Given the description of an element on the screen output the (x, y) to click on. 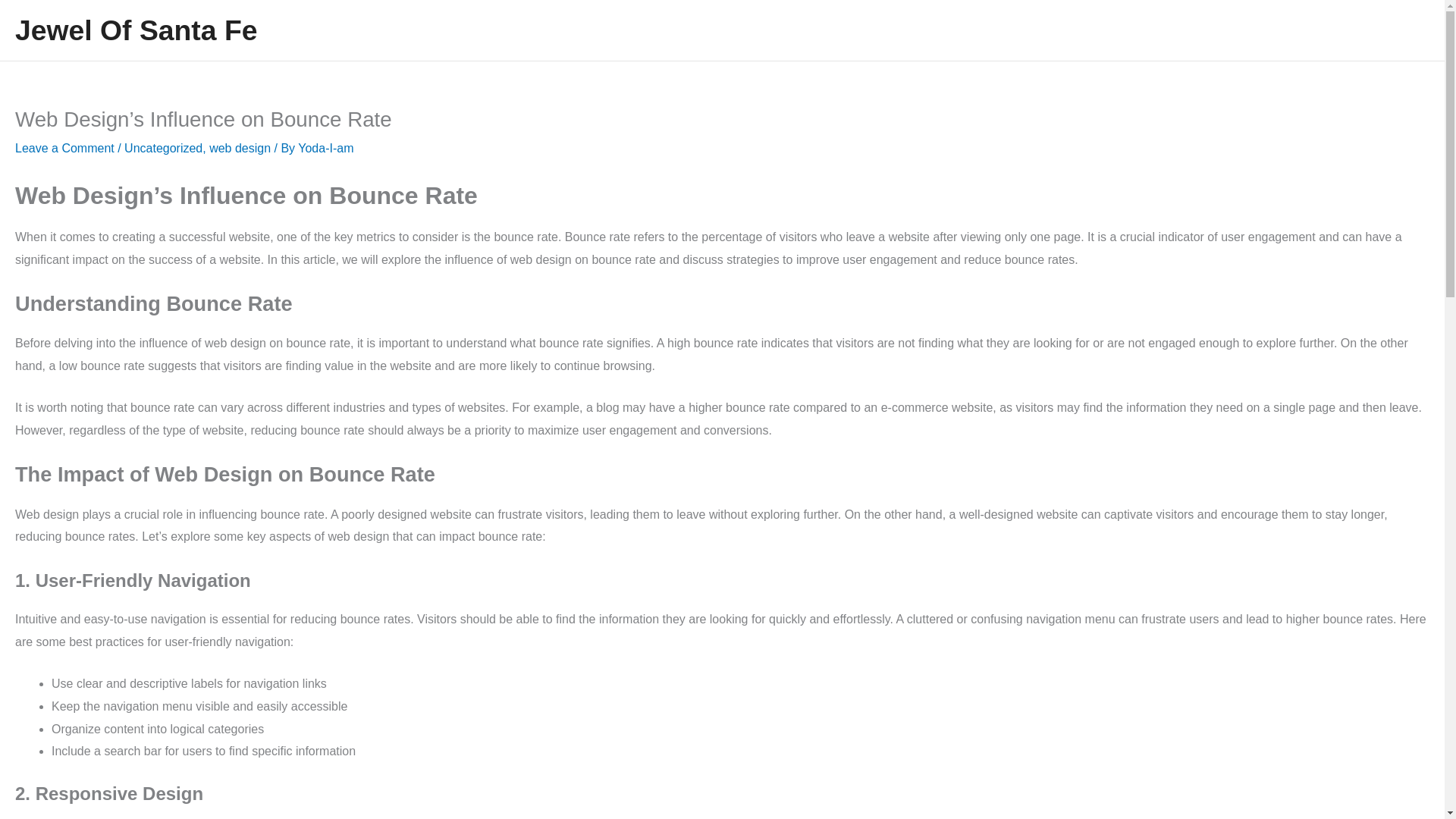
View all posts by Yoda-I-am (325, 147)
Uncategorized (162, 147)
web design (239, 147)
Jewel Of Santa Fe (135, 29)
Leave a Comment (64, 147)
Yoda-I-am (325, 147)
